Given the description of an element on the screen output the (x, y) to click on. 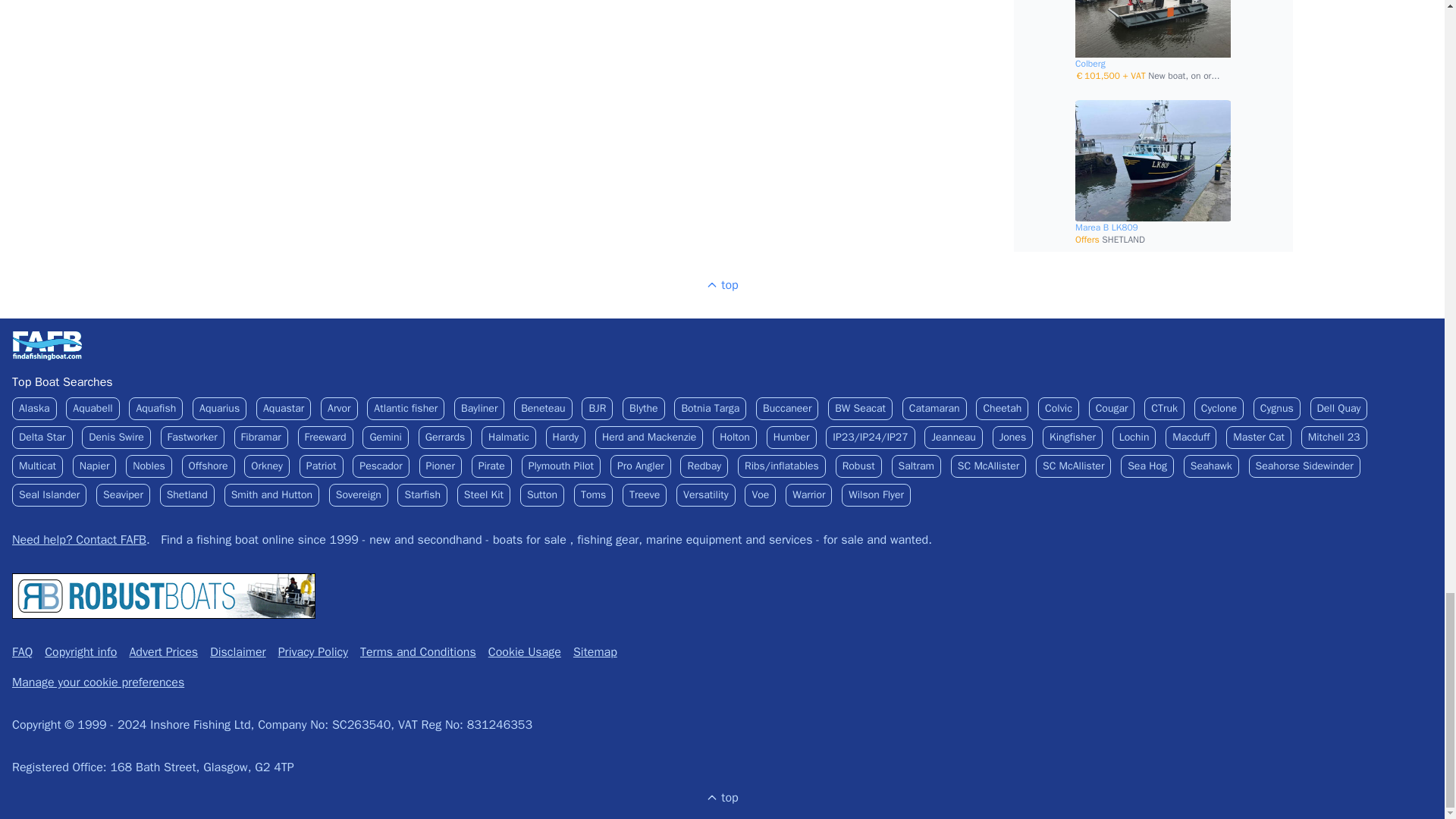
Click here to visit advertiser's website (163, 596)
Banner advertisement (721, 596)
